Given the description of an element on the screen output the (x, y) to click on. 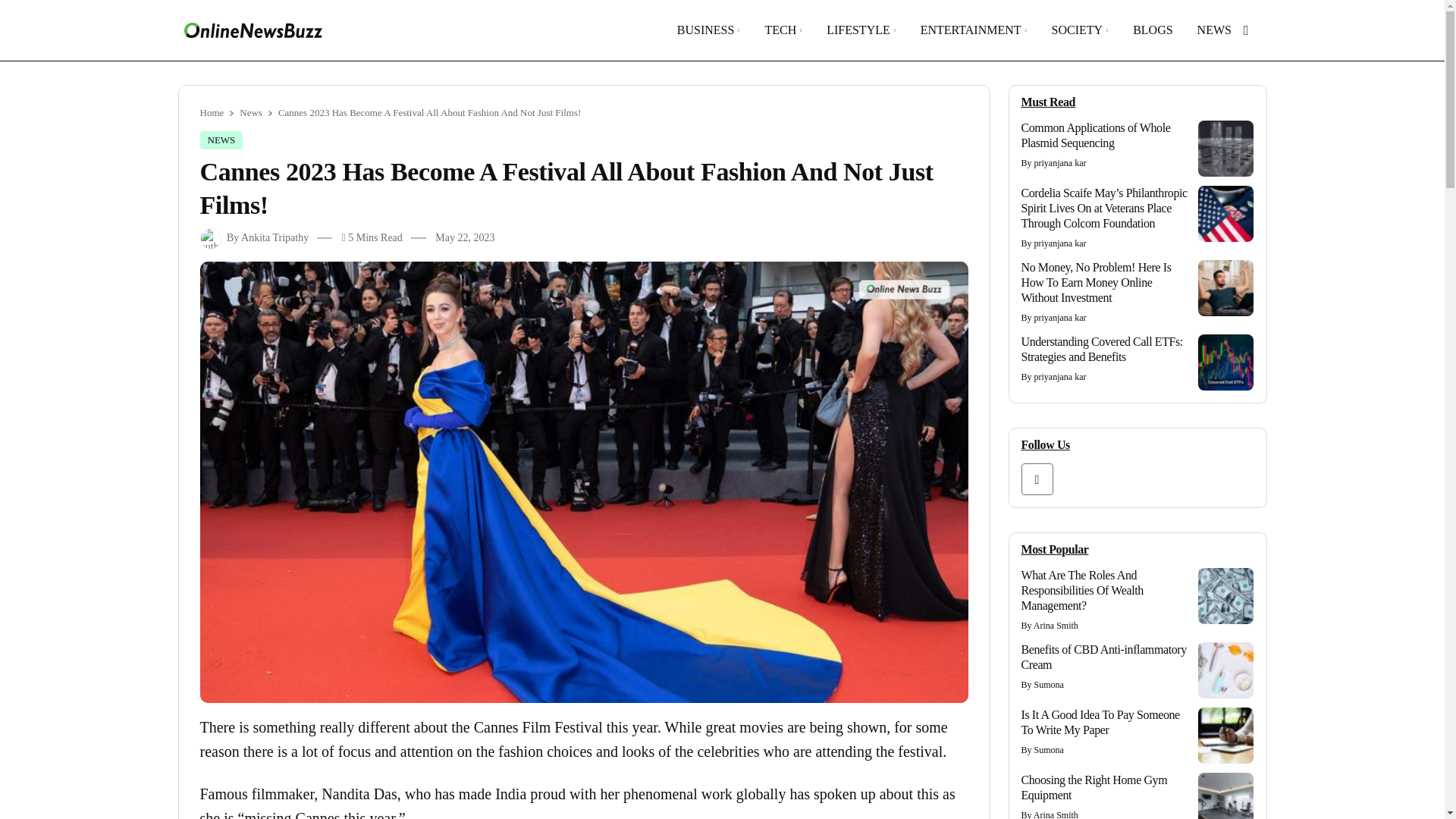
TECH (780, 30)
ENTERTAINMENT (971, 30)
News (221, 140)
SOCIETY (1077, 30)
BLOGS (1152, 30)
BUSINESS (706, 30)
News (251, 112)
NEWS (1213, 30)
LIFESTYLE (858, 30)
